Given the description of an element on the screen output the (x, y) to click on. 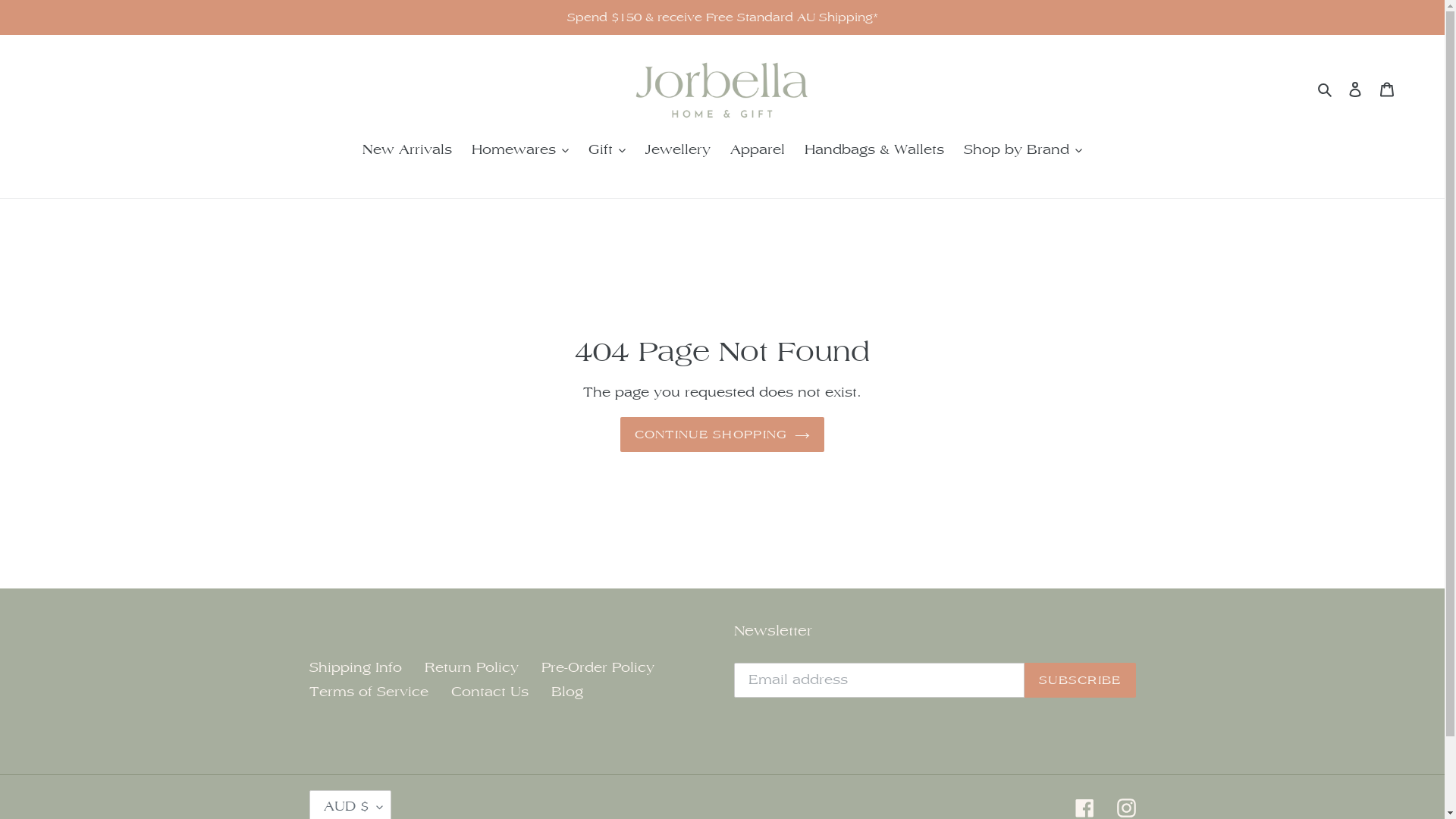
Gift Element type: text (606, 150)
Contact Us Element type: text (488, 692)
SUBSCRIBE Element type: text (1079, 679)
CONTINUE SHOPPING Element type: text (722, 434)
Jewellery Element type: text (677, 150)
Apparel Element type: text (757, 150)
Search Element type: text (1325, 89)
Blog Element type: text (566, 692)
Facebook Element type: text (1084, 807)
Handbags & Wallets Element type: text (874, 150)
Homewares Element type: text (520, 150)
Terms of Service Element type: text (368, 692)
Return Policy Element type: text (471, 667)
Shipping Info Element type: text (355, 667)
Log in Element type: text (1355, 88)
Shop by Brand Element type: text (1022, 150)
New Arrivals Element type: text (406, 150)
Cart Element type: text (1386, 88)
Pre-Order Policy Element type: text (597, 667)
Instagram Element type: text (1125, 807)
